Given the description of an element on the screen output the (x, y) to click on. 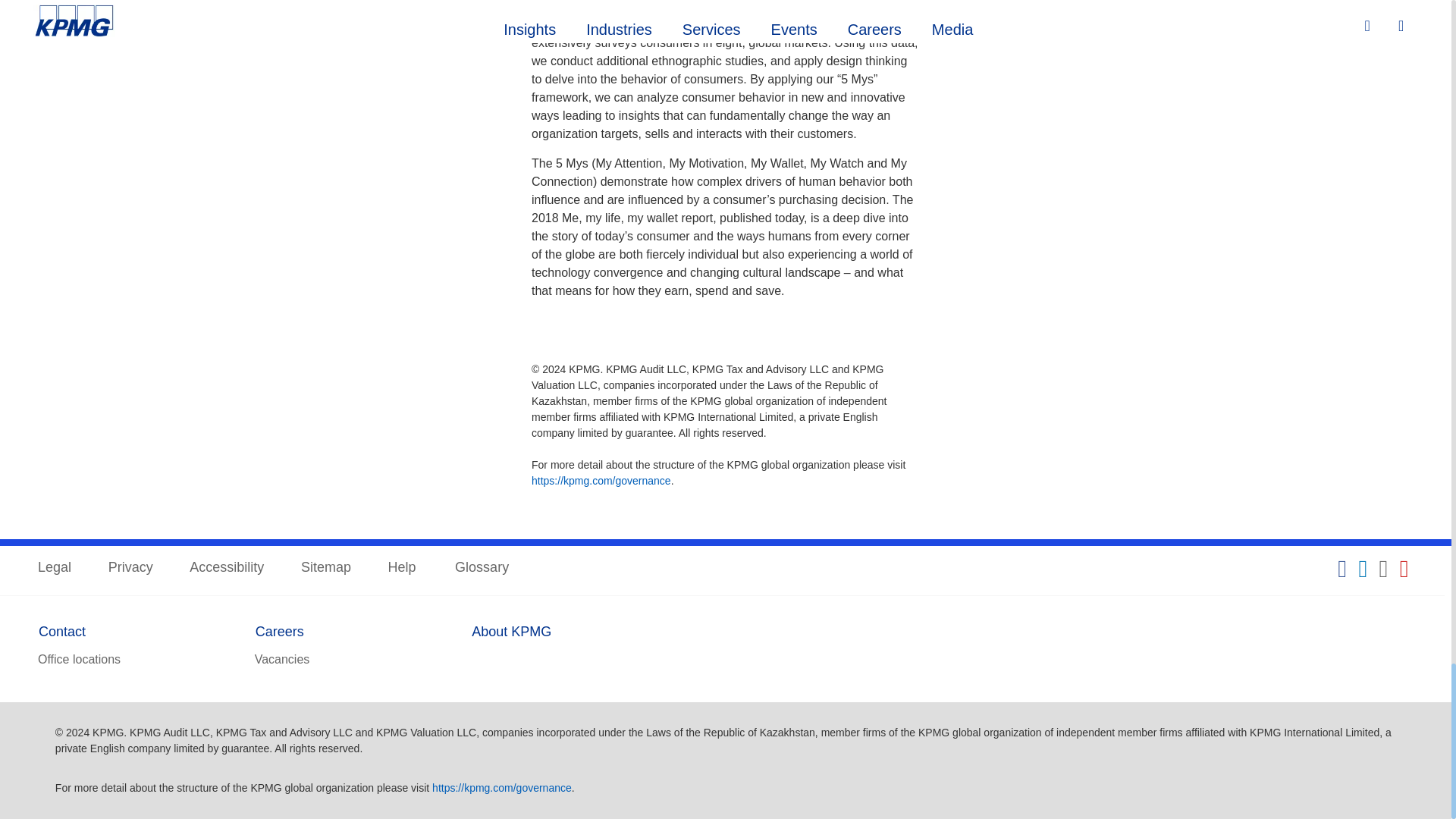
Glossary (481, 568)
Accessibility (226, 568)
Legal (54, 568)
Privacy (129, 568)
Help (403, 568)
Sitemap (325, 568)
